Given the description of an element on the screen output the (x, y) to click on. 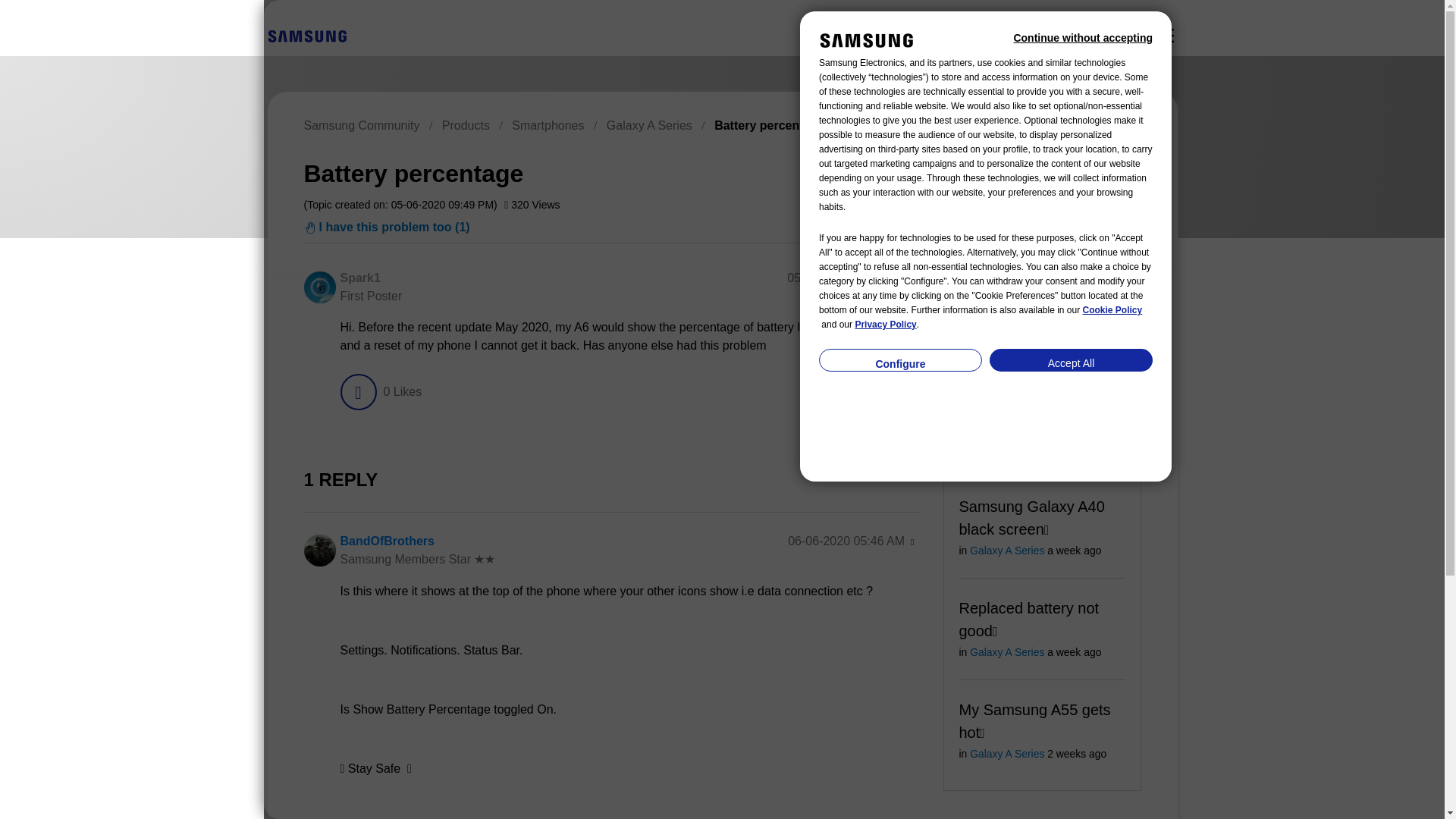
Galaxy A Series (650, 124)
Products (465, 124)
Spark1 (359, 277)
Spark1 (318, 287)
English (306, 36)
Samsung Community (360, 124)
Smartphones (547, 124)
Click here to give likes to this post. (357, 391)
English (306, 34)
Show option menu (1072, 171)
Community (1164, 35)
Show option menu (912, 279)
Topic Options (1072, 171)
The total number of likes this post has received. (401, 391)
REPLY (874, 391)
